Given the description of an element on the screen output the (x, y) to click on. 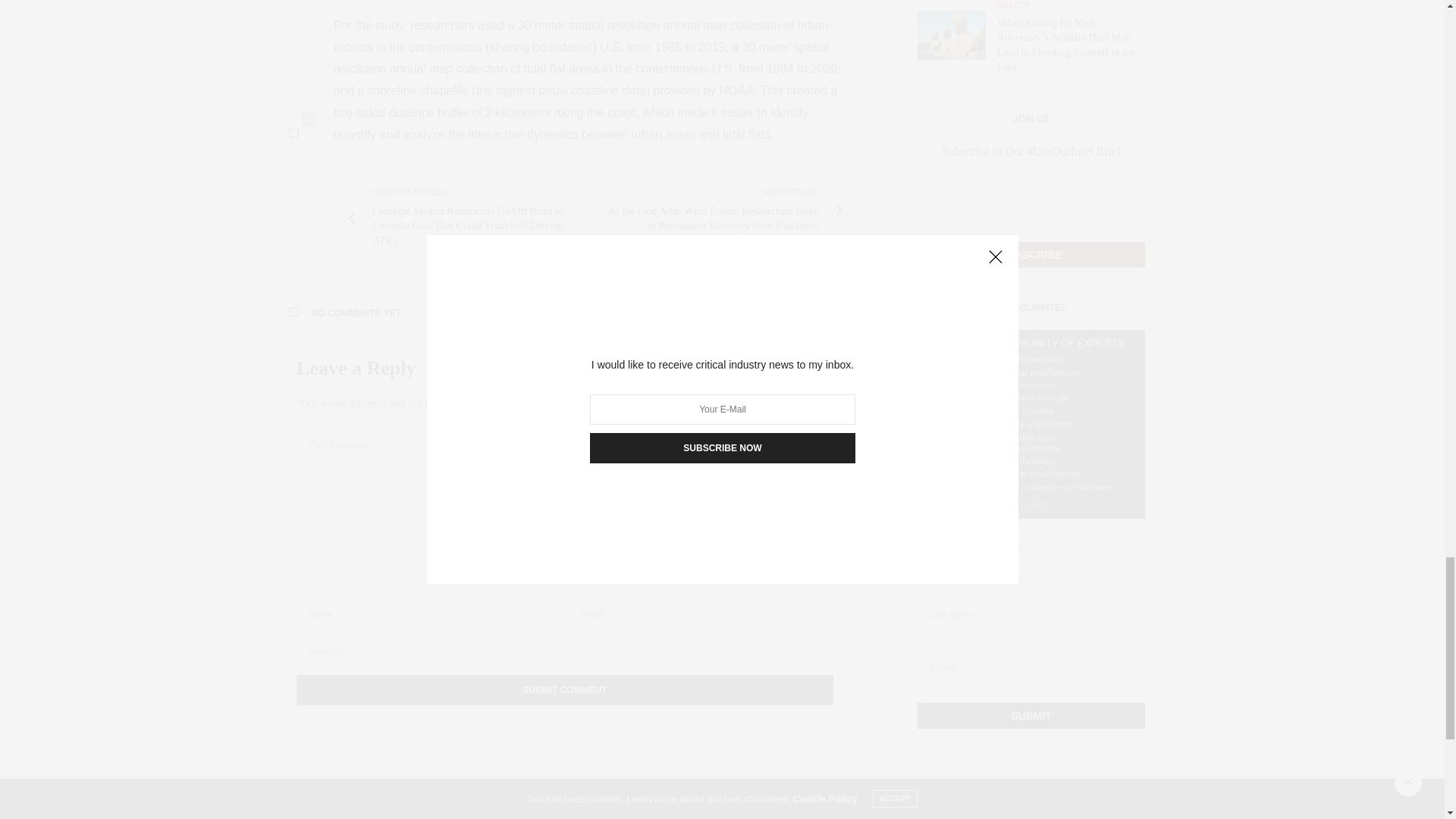
Submit Comment (564, 689)
NO COMMENTS YET (564, 313)
